Given the description of an element on the screen output the (x, y) to click on. 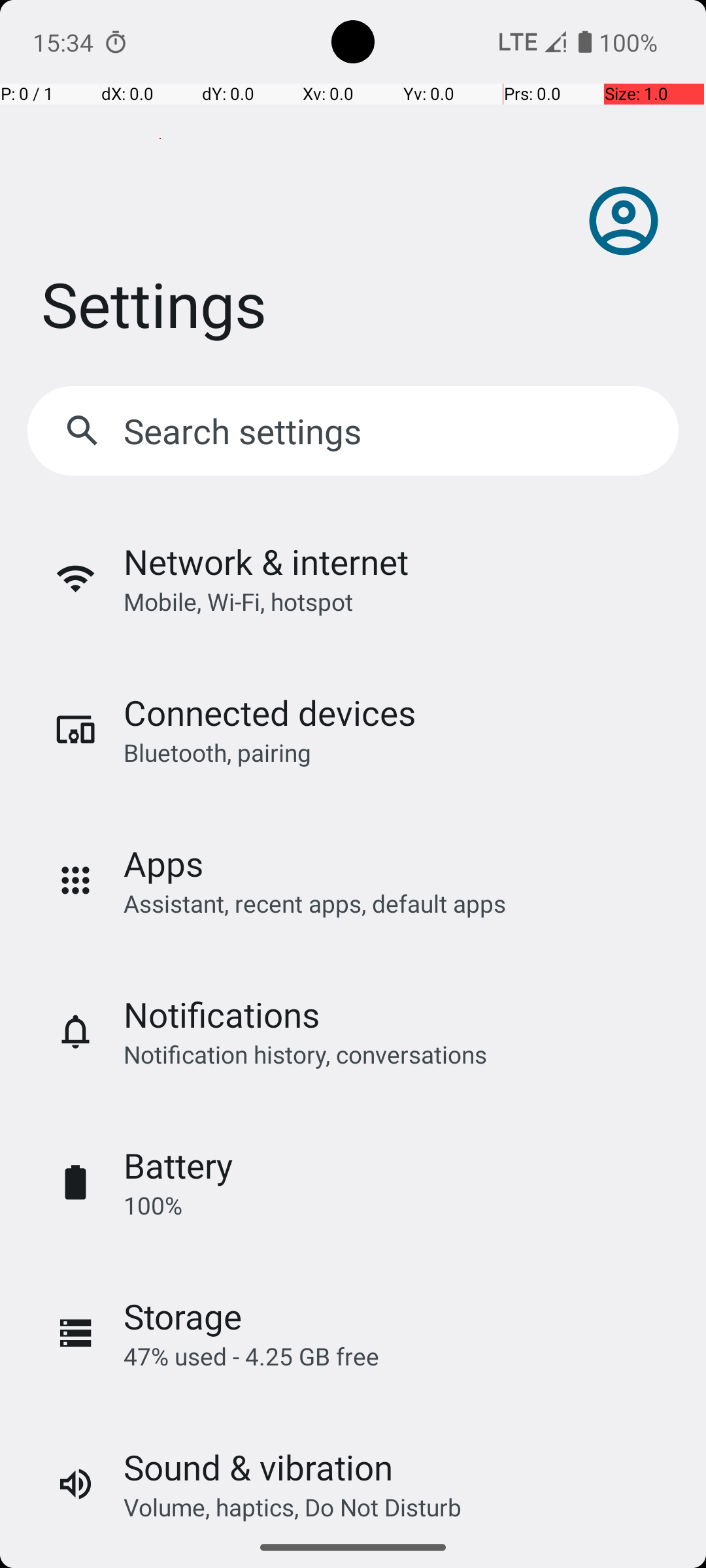
47% used - 4.25 GB free Element type: android.widget.TextView (251, 1355)
